Given the description of an element on the screen output the (x, y) to click on. 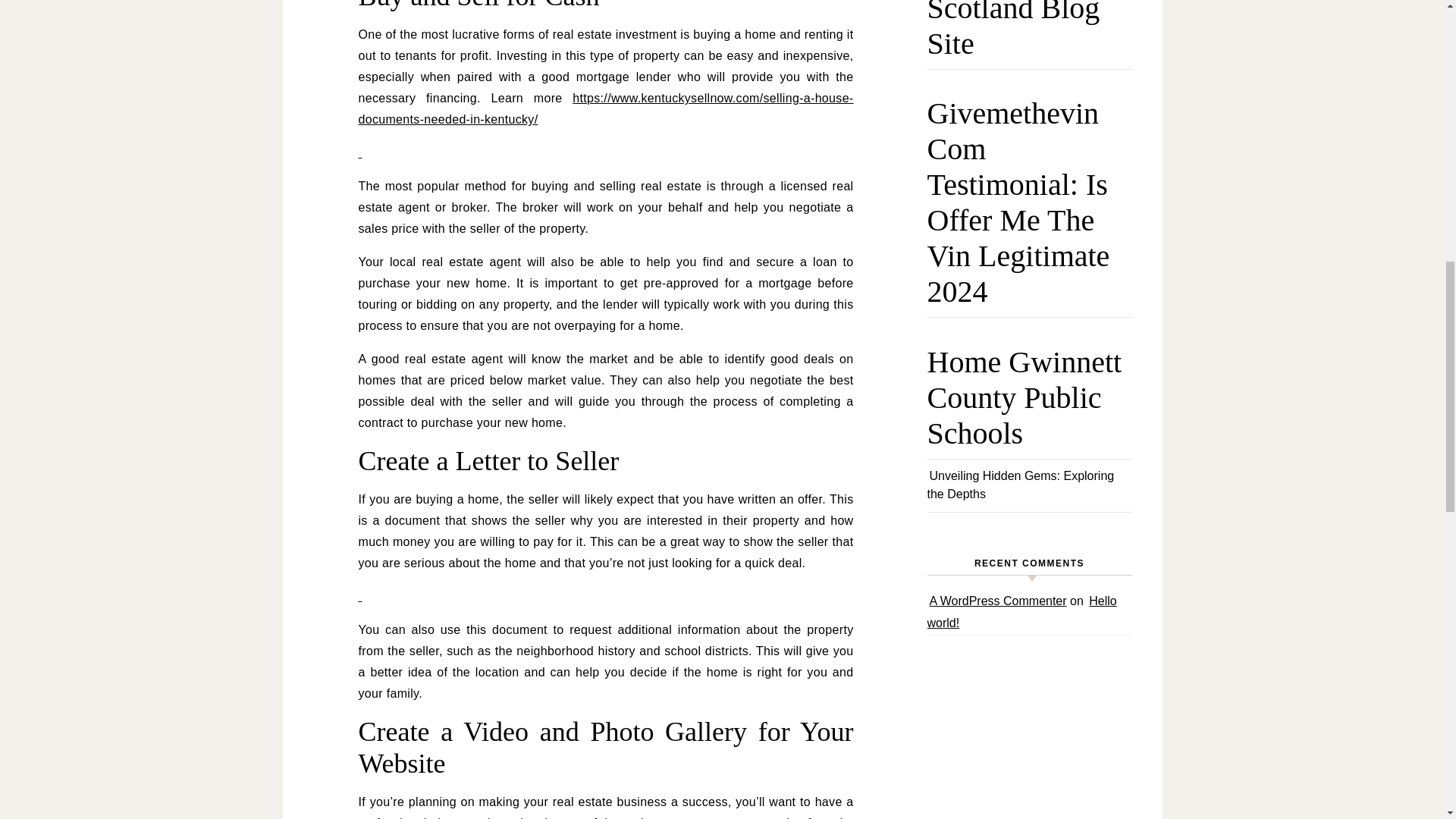
A WordPress Commenter (998, 600)
Unveiling Hidden Gems: Exploring the Depths (1019, 485)
Hello world! (1021, 611)
Home Gwinnett County Public Schools (1028, 405)
